Given the description of an element on the screen output the (x, y) to click on. 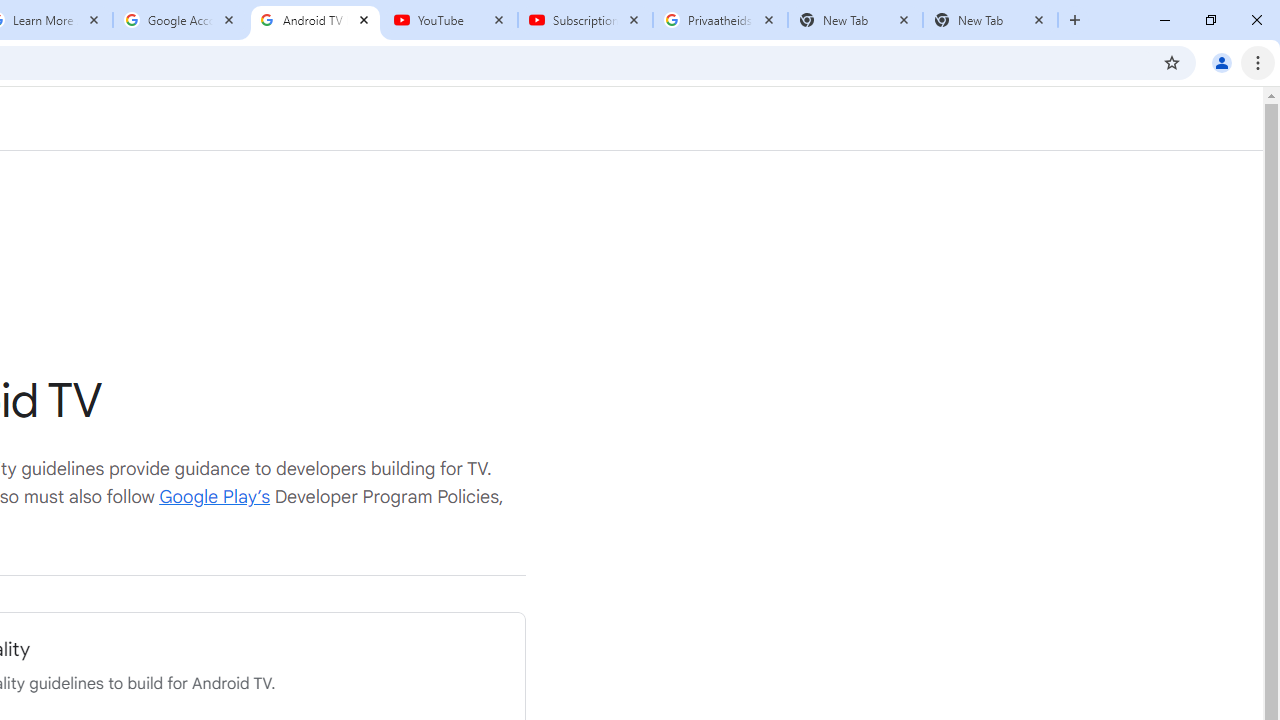
Android TV Policies and Guidelines - Transparency Center (315, 20)
YouTube (450, 20)
Google Account (180, 20)
New Tab (990, 20)
Subscriptions - YouTube (585, 20)
